Given the description of an element on the screen output the (x, y) to click on. 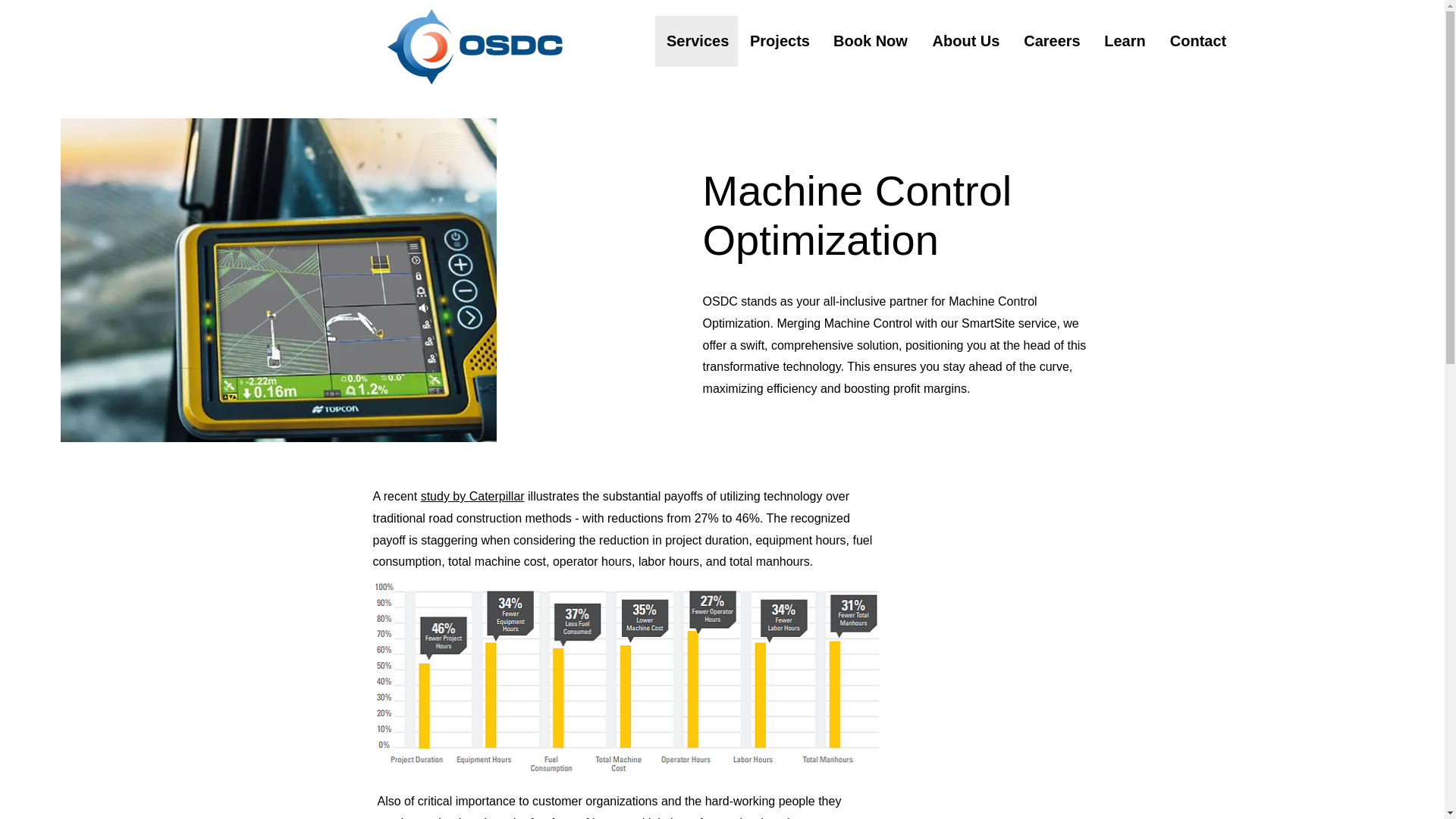
study by Caterpillar (472, 495)
Learn (1124, 40)
Careers (1051, 40)
Contact (1198, 40)
Projects (779, 40)
About Us (965, 40)
OSDC (474, 46)
Services (696, 40)
Book Now (870, 40)
